Given the description of an element on the screen output the (x, y) to click on. 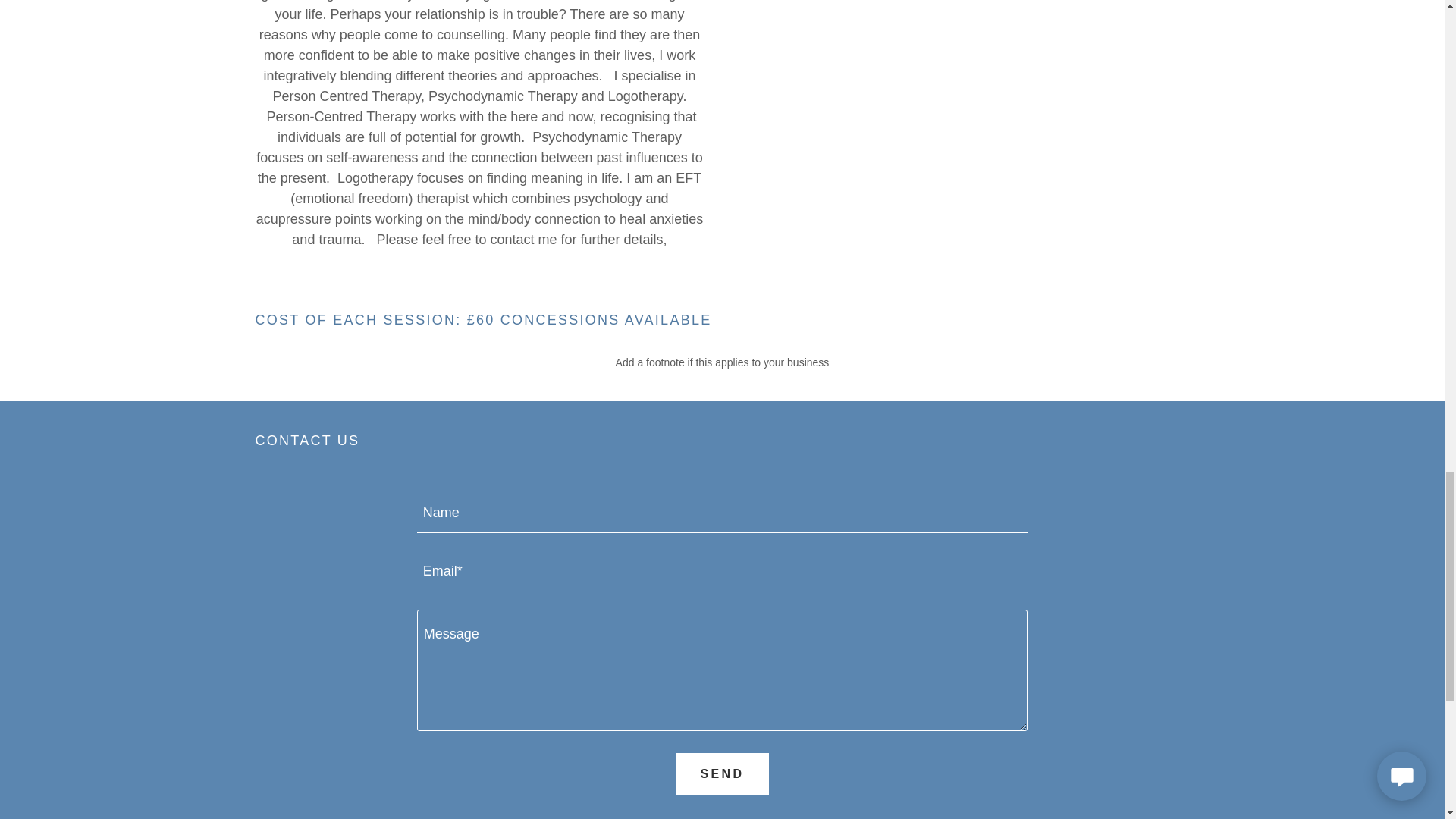
SEND (721, 773)
